Given the description of an element on the screen output the (x, y) to click on. 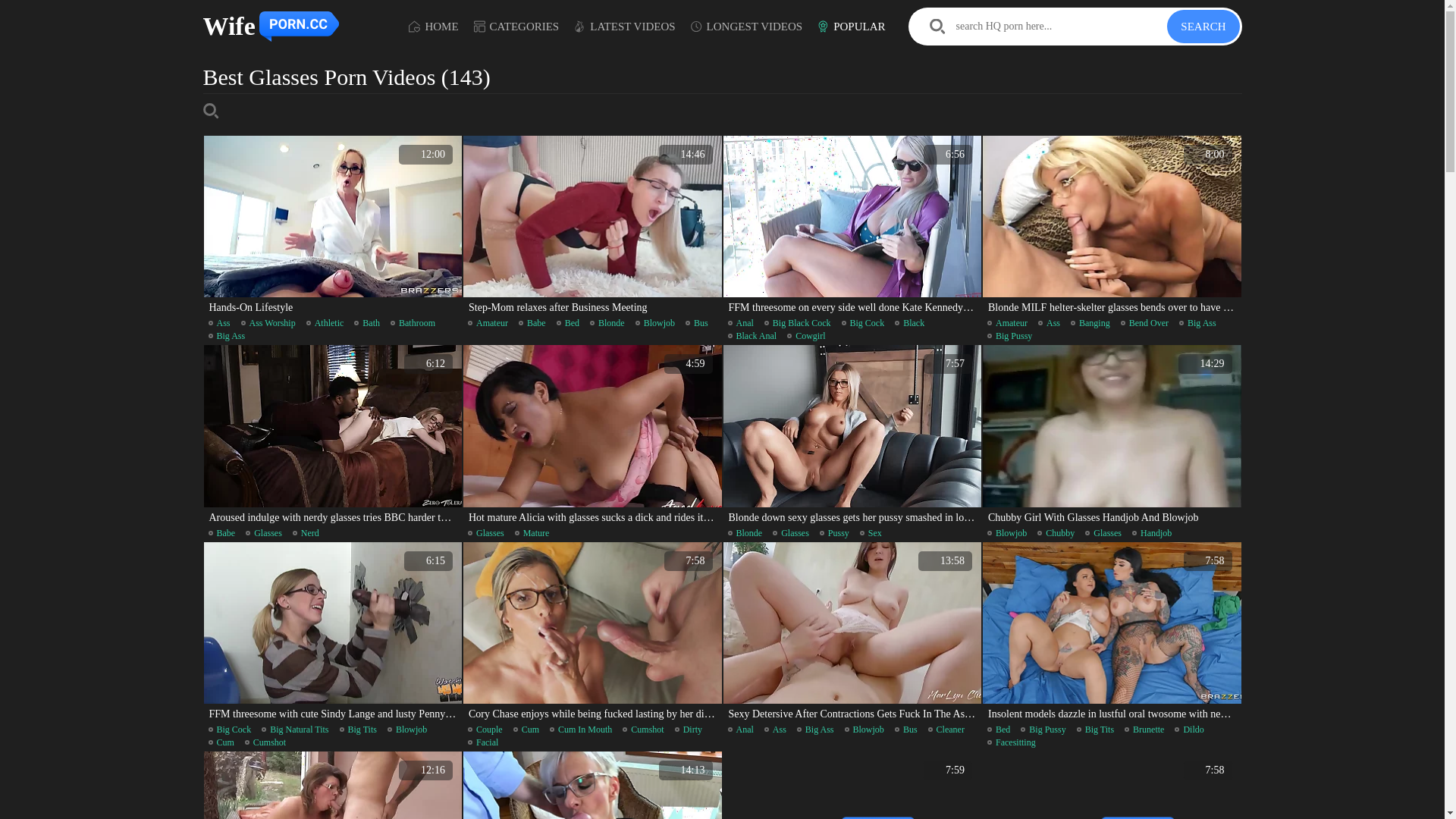
Sex Element type: text (870, 532)
Banging Element type: text (1090, 322)
Bus Element type: text (905, 729)
LONGEST VIDEOS Element type: text (746, 25)
Big Ass Element type: text (815, 729)
Cumshot Element type: text (642, 729)
Glasses Element type: text (263, 532)
Cum Element type: text (526, 729)
Big Tits Element type: text (1094, 729)
Big Pussy Element type: text (1042, 729)
Anal Element type: text (740, 729)
Ass Element type: text (218, 322)
14:46
Step-Mom relaxes after Business Meeting Element type: text (592, 226)
HOME Element type: text (433, 25)
Pussy Element type: text (834, 532)
Blowjob Element type: text (1006, 532)
Ass Element type: text (775, 729)
14:29
Chubby Girl With Glasses Handjob And Blowjob Element type: text (1111, 436)
Black Anal Element type: text (752, 335)
Big Ass Element type: text (225, 335)
Cumshot Element type: text (264, 742)
Bed Element type: text (998, 729)
POPULAR Element type: text (850, 25)
Glasses Element type: text (790, 532)
Blonde Element type: text (606, 322)
Search X Videos Element type: hover (1038, 26)
Black Element type: text (909, 322)
Couple Element type: text (484, 729)
Amateur Element type: text (487, 322)
Cleaner Element type: text (946, 729)
Bath Element type: text (366, 322)
Big Tits Element type: text (357, 729)
CATEGORIES Element type: text (516, 25)
Facial Element type: text (482, 742)
Nerd Element type: text (305, 532)
Dildo Element type: text (1188, 729)
12:00
Hands-On Lifestyle Element type: text (332, 226)
Glasses Element type: text (485, 532)
Bus Element type: text (696, 322)
Blonde Element type: text (745, 532)
Ass Worship Element type: text (268, 322)
Athletic Element type: text (325, 322)
Glasses Element type: text (1103, 532)
Anal Element type: text (740, 322)
Big Cock Element type: text (229, 729)
Mature Element type: text (531, 532)
Dirty Element type: text (688, 729)
Chubby Element type: text (1055, 532)
Wife Element type: text (272, 26)
Big Natural Tits Element type: text (294, 729)
Big Black Cock Element type: text (797, 322)
Bed Element type: text (567, 322)
Amateur Element type: text (1007, 322)
Big Ass Element type: text (1197, 322)
Bend Over Element type: text (1144, 322)
Handjob Element type: text (1151, 532)
Cowgirl Element type: text (806, 335)
SEARCH Element type: text (1203, 26)
Big Cock Element type: text (862, 322)
Bathroom Element type: text (412, 322)
Cum Element type: text (220, 742)
Big Pussy Element type: text (1009, 335)
Blowjob Element type: text (654, 322)
Babe Element type: text (221, 532)
Babe Element type: text (532, 322)
Brunette Element type: text (1144, 729)
Cum In Mouth Element type: text (580, 729)
LATEST VIDEOS Element type: text (624, 25)
Facesitting Element type: text (1011, 742)
Blowjob Element type: text (406, 729)
Ass Element type: text (1049, 322)
Blowjob Element type: text (864, 729)
